Given the description of an element on the screen output the (x, y) to click on. 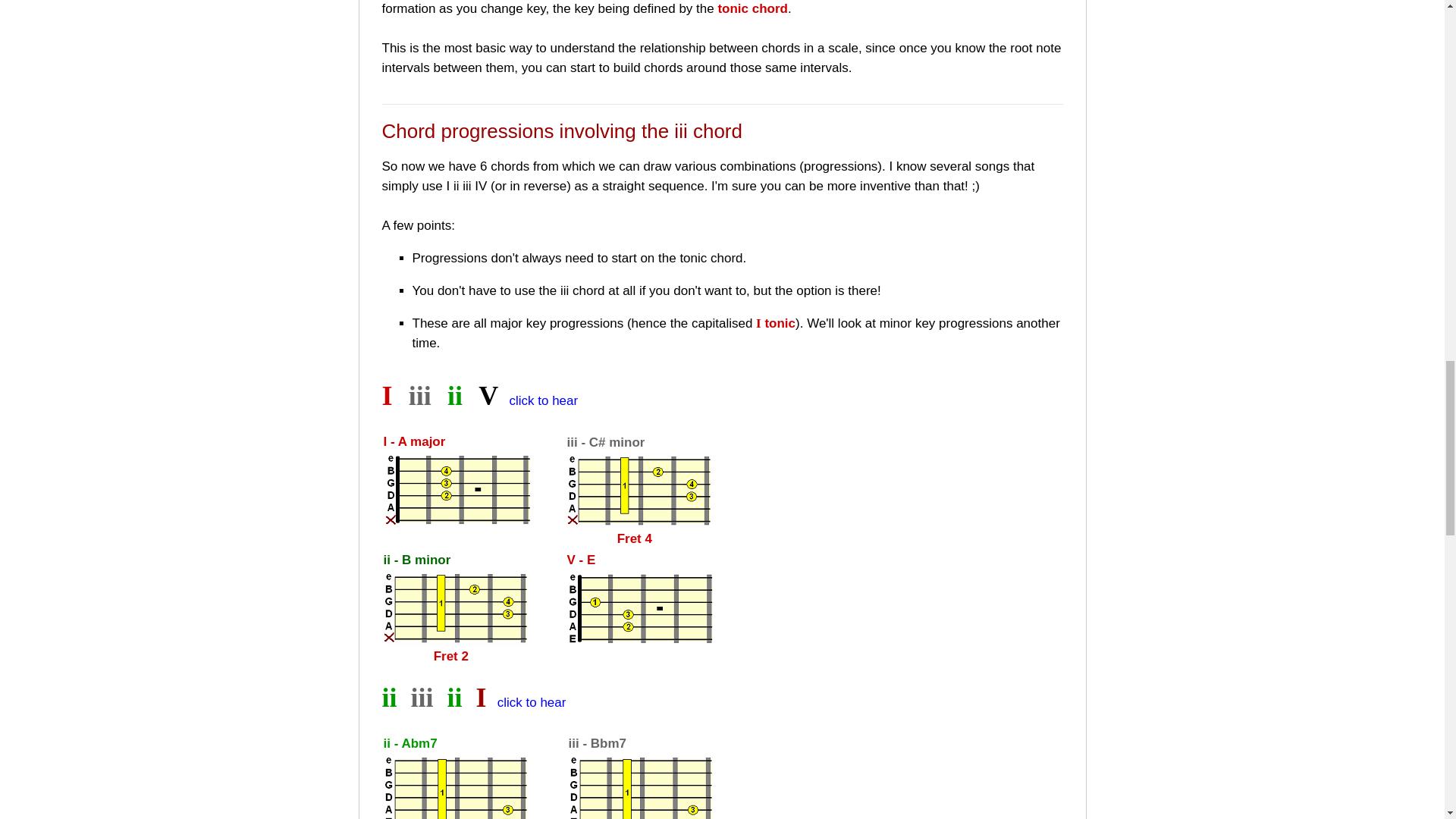
click to hear (531, 702)
click to hear (543, 400)
